Given the description of an element on the screen output the (x, y) to click on. 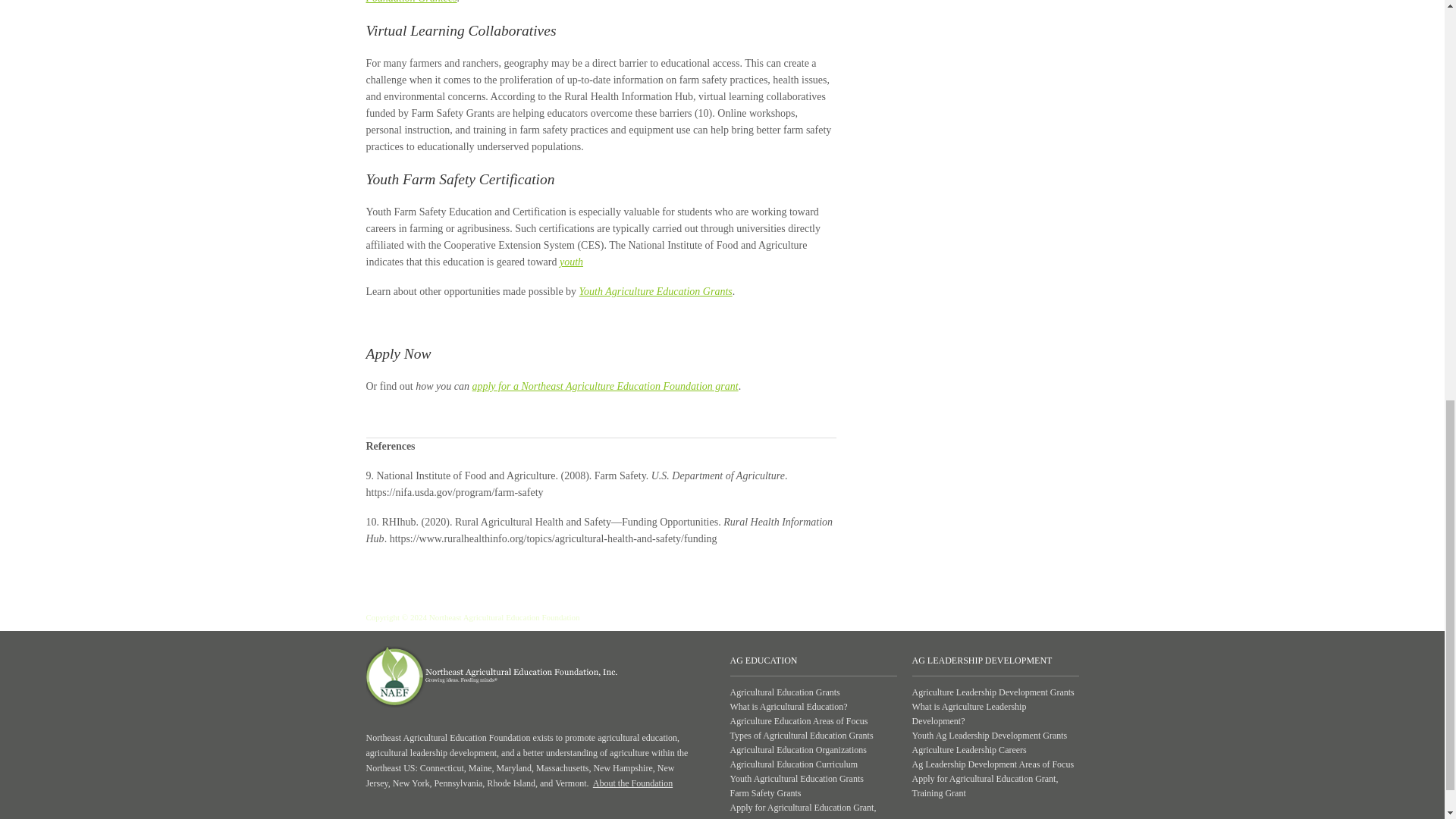
youth (571, 261)
Youth Agriculture Education Grants (655, 291)
apply for a Northeast Agriculture Education Foundation grant (604, 386)
